Given the description of an element on the screen output the (x, y) to click on. 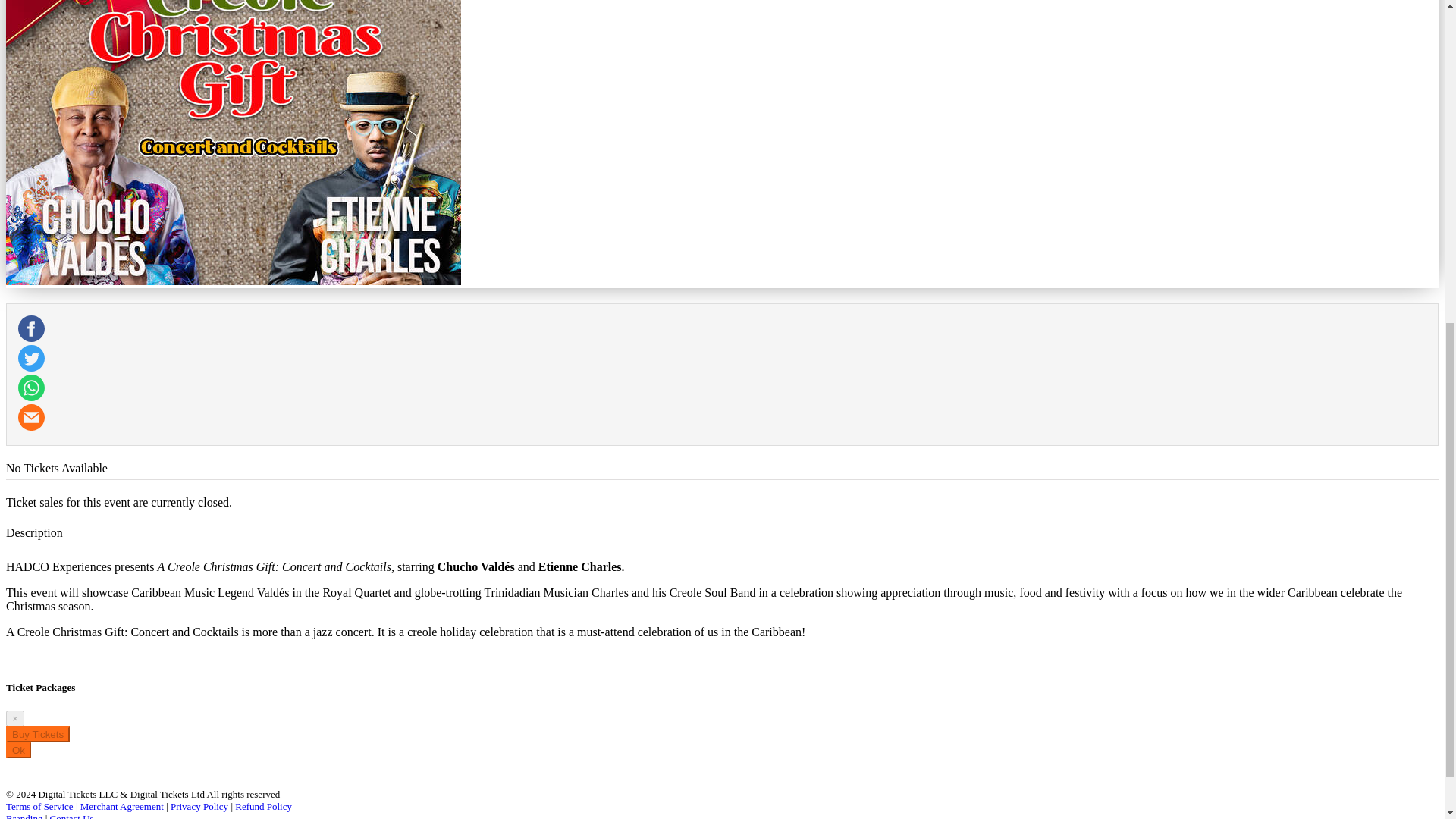
Privacy Policy (199, 806)
Merchant Agreement (121, 806)
Ok (17, 750)
Buy Tickets (37, 734)
Terms of Service (39, 806)
Refund Policy (263, 806)
